Given the description of an element on the screen output the (x, y) to click on. 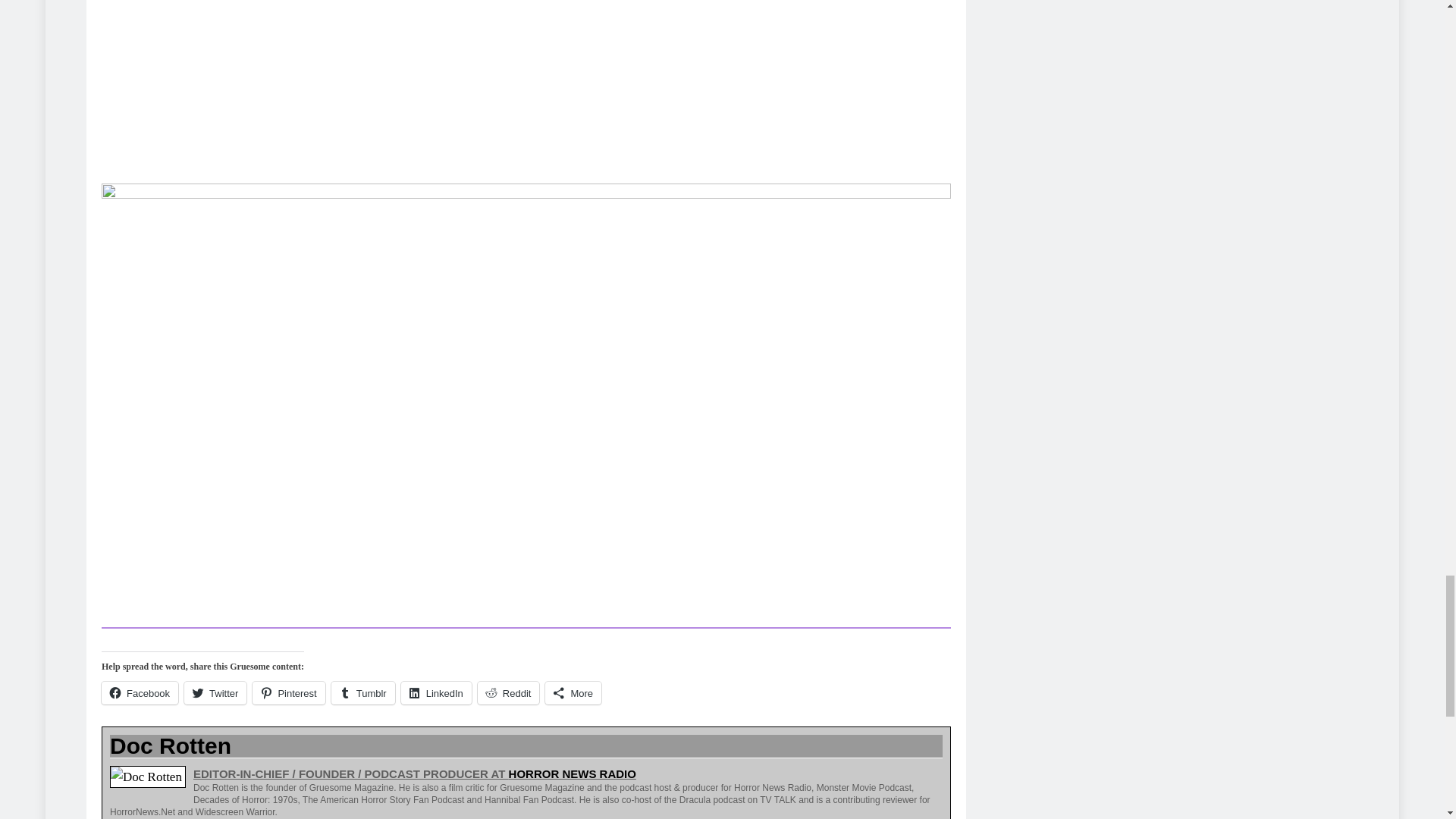
Click to share on Reddit (508, 692)
Click to share on Facebook (139, 692)
Click to share on Twitter (215, 692)
Click to share on Tumblr (362, 692)
Click to share on LinkedIn (436, 692)
Click to share on Pinterest (287, 692)
